Given the description of an element on the screen output the (x, y) to click on. 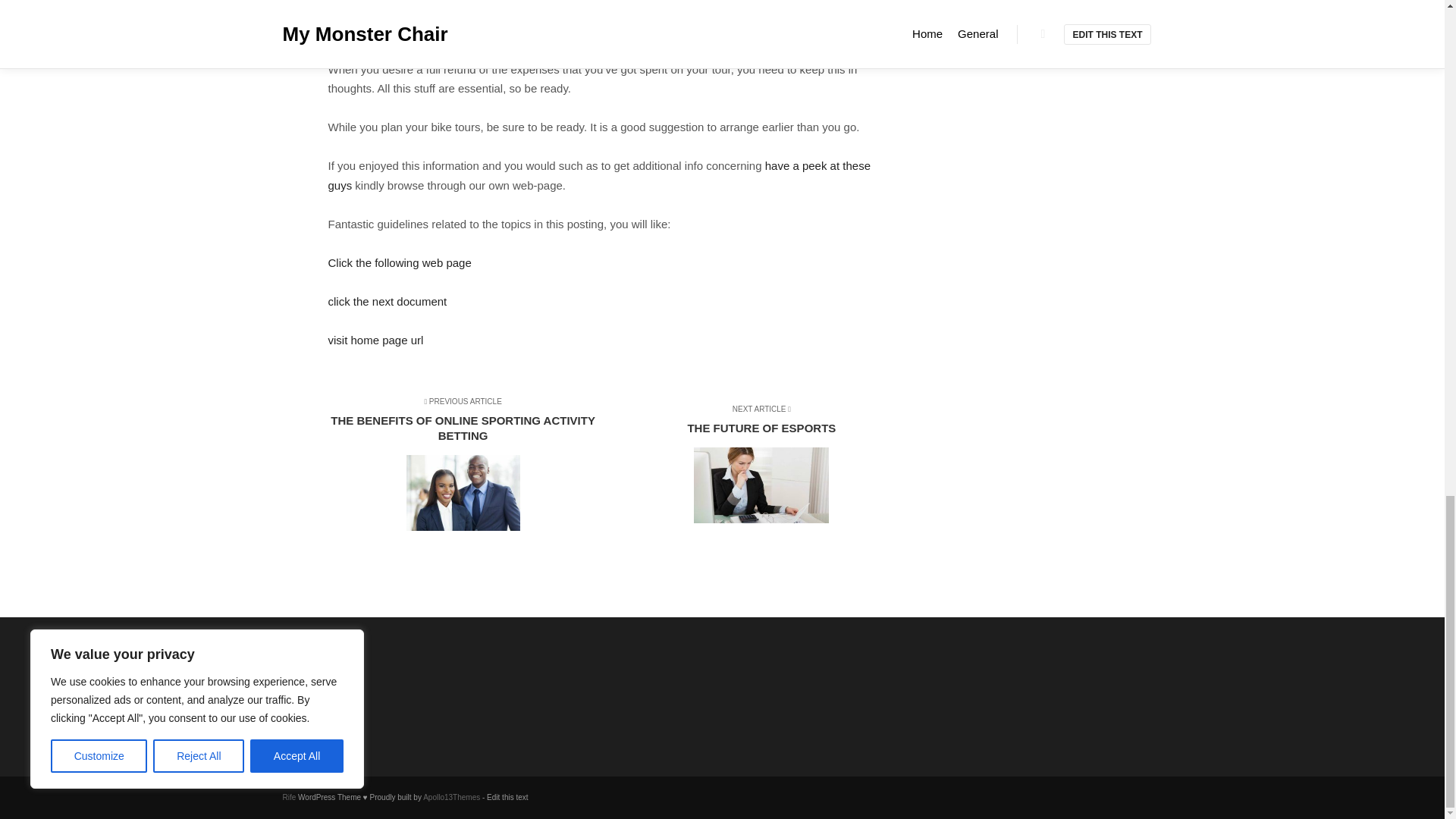
click the next document (386, 300)
About (360, 683)
have a peek at these guys (598, 174)
Click the following web page (754, 465)
visit home page url (398, 262)
